Given the description of an element on the screen output the (x, y) to click on. 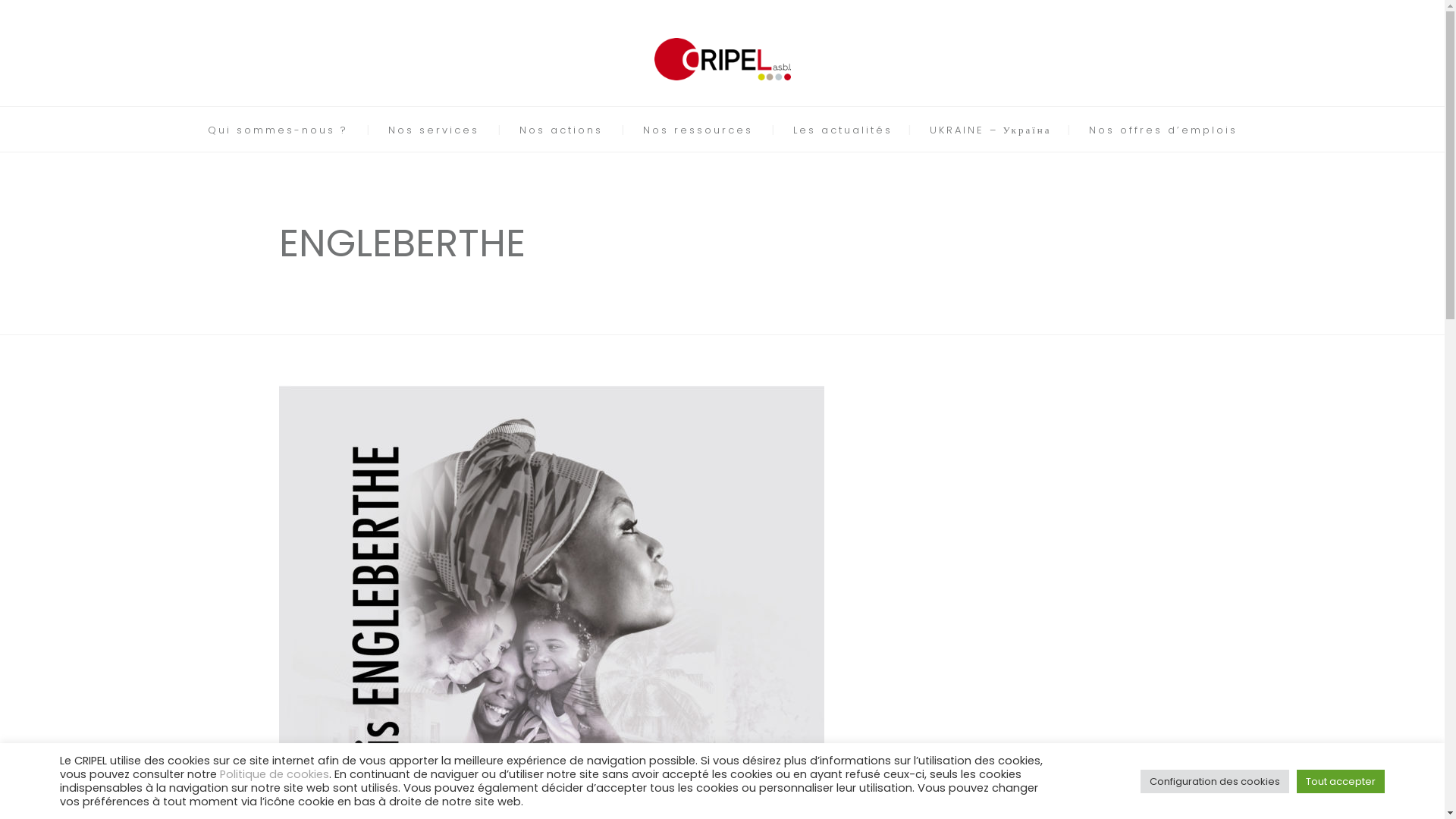
Nos actions Element type: text (560, 129)
Qui sommes-nous ? Element type: text (277, 129)
Configuration des cookies Element type: text (1214, 780)
Nos services Element type: text (433, 129)
Nos ressources Element type: text (698, 129)
Politique de cookies Element type: text (274, 773)
Tout accepter Element type: text (1340, 780)
